Given the description of an element on the screen output the (x, y) to click on. 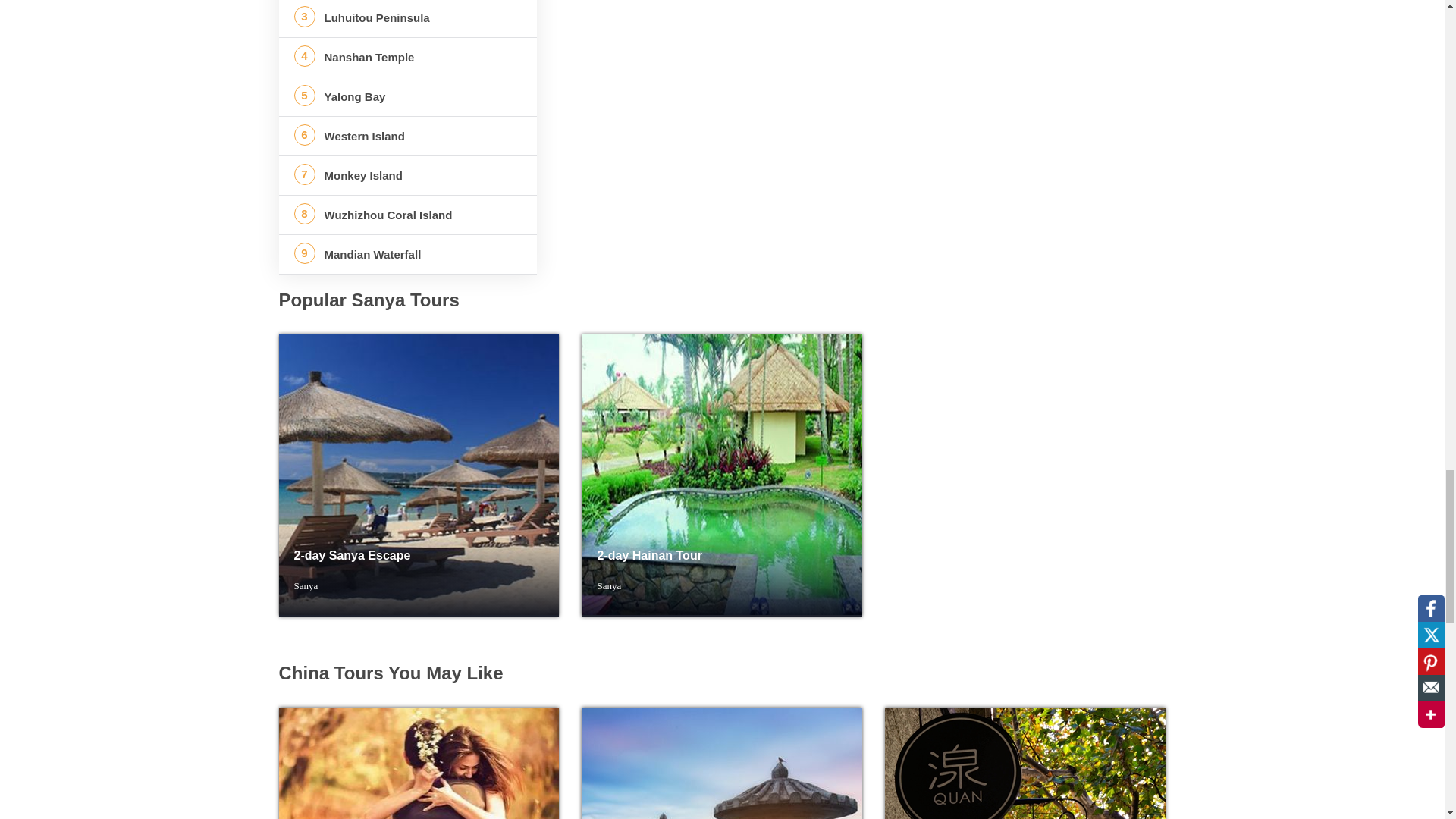
Nanshan Temple (408, 56)
Luhuitou Peninsula (408, 18)
Western Island (408, 136)
Yalong Bay (408, 96)
